Given the description of an element on the screen output the (x, y) to click on. 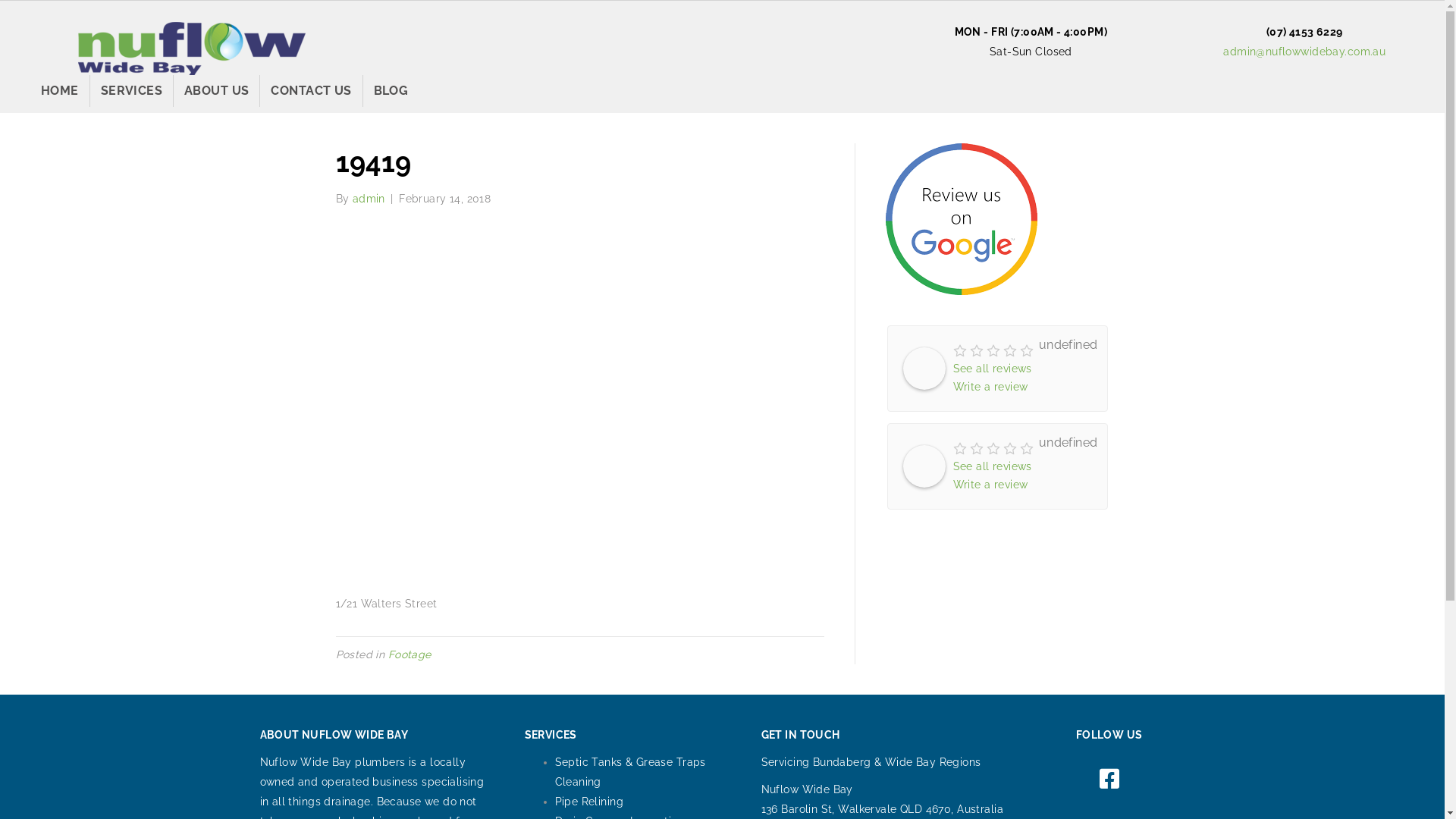
YouTube video player Element type: hover (579, 410)
Write a review Element type: text (989, 484)
Footage Element type: text (409, 654)
admin@nuflowwidebay.com.au Element type: text (1304, 51)
BLOG Element type: text (391, 90)
See all reviews Element type: text (991, 466)
See all reviews Element type: text (991, 368)
SERVICES Element type: text (131, 90)
HOME Element type: text (59, 90)
Write a review Element type: text (989, 386)
Nuflow-Wide-Bay-logo-300x70 Element type: hover (191, 48)
CONTACT US Element type: text (310, 90)
ABOUT US Element type: text (216, 90)
admin Element type: text (368, 198)
